Given the description of an element on the screen output the (x, y) to click on. 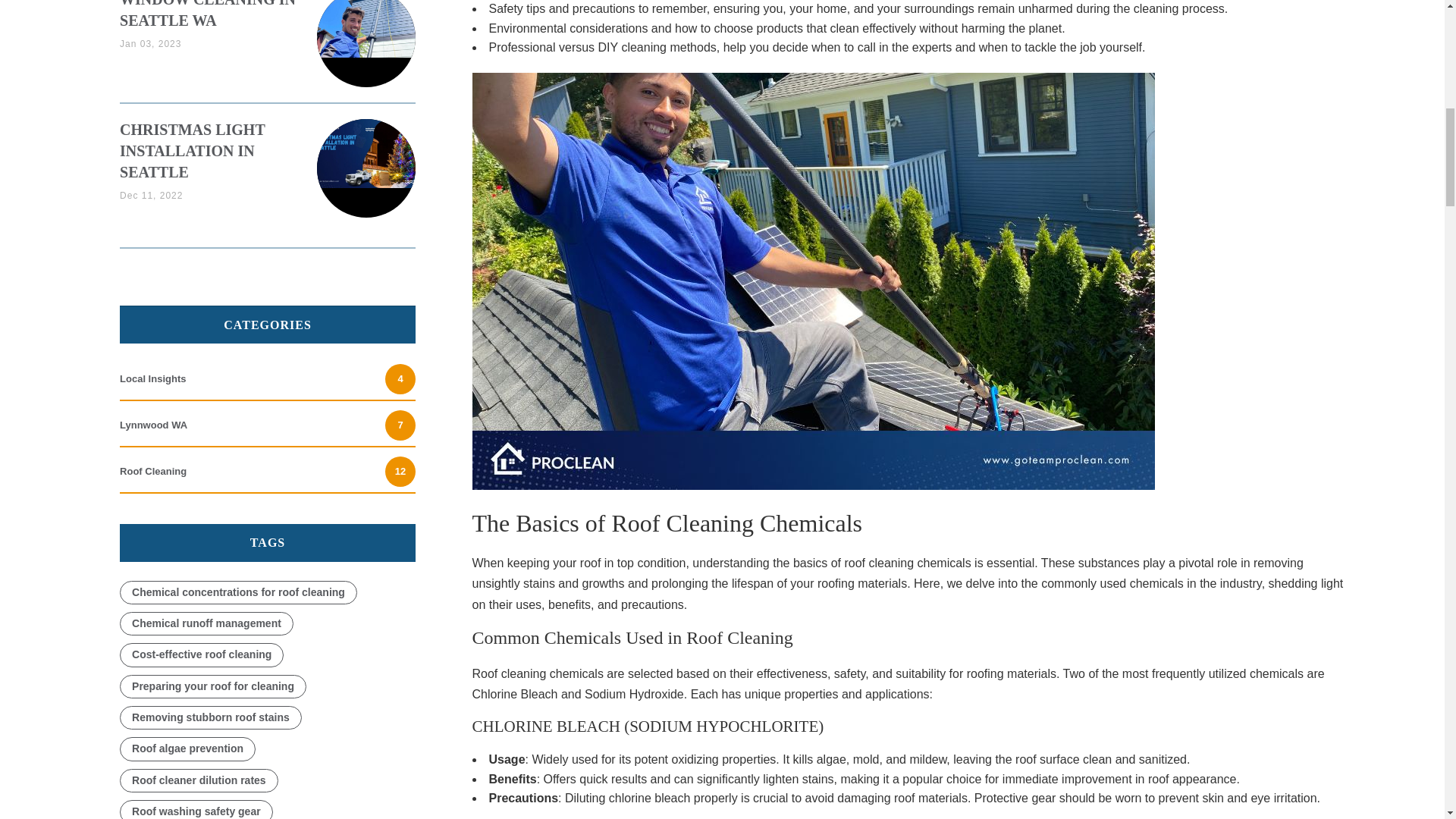
Window Cleaning in Seattle WA (207, 14)
Christmas Light Installation in Seattle (266, 425)
Window Cleaning in Seattle WA (191, 150)
WINDOW CLEANING IN SEATTLE WA (365, 28)
CHRISTMAS LIGHT INSTALLATION IN SEATTLE (266, 378)
Christmas Light Installation in Seattle (207, 14)
